Given the description of an element on the screen output the (x, y) to click on. 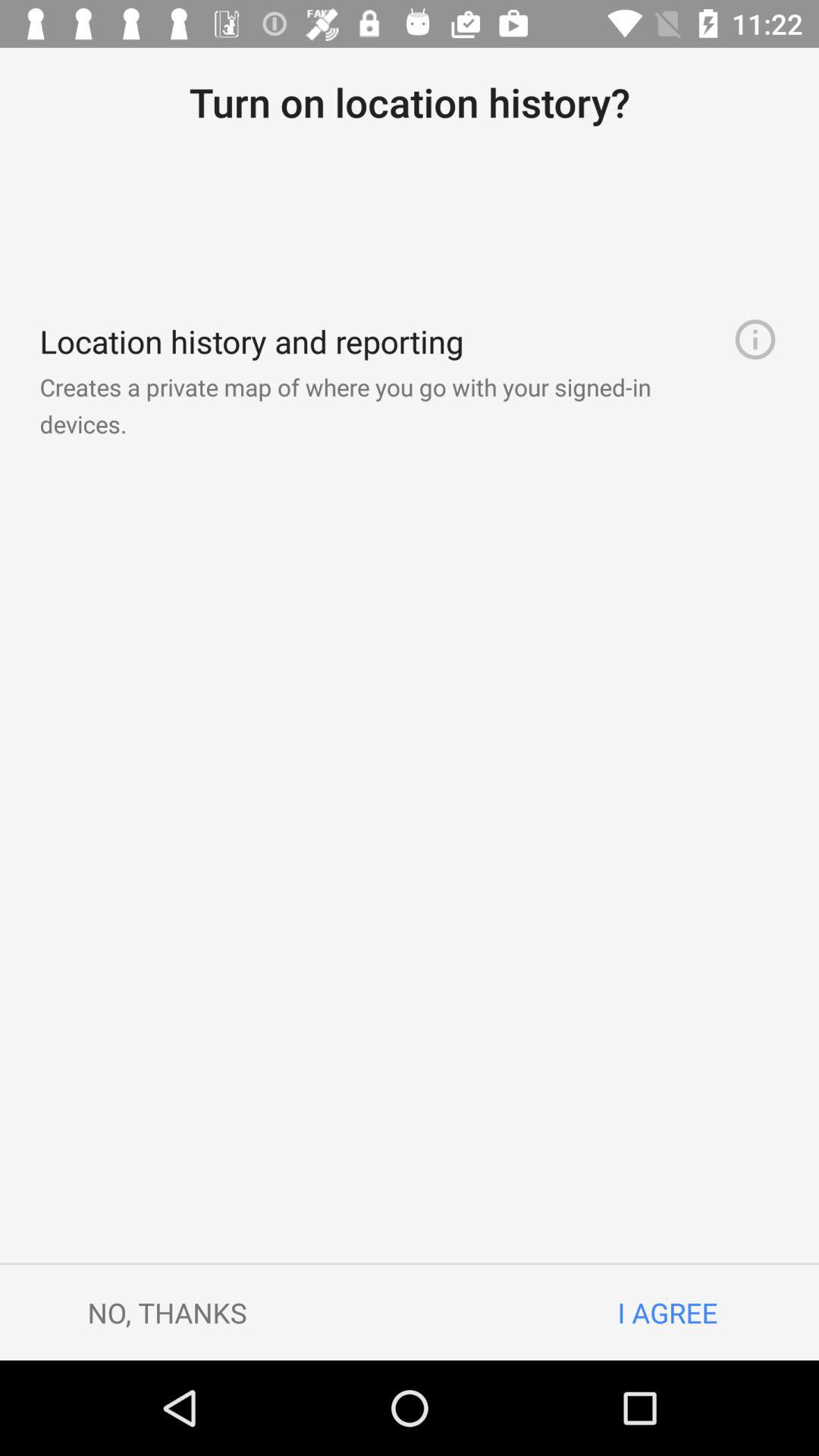
swipe until the no, thanks (166, 1312)
